Given the description of an element on the screen output the (x, y) to click on. 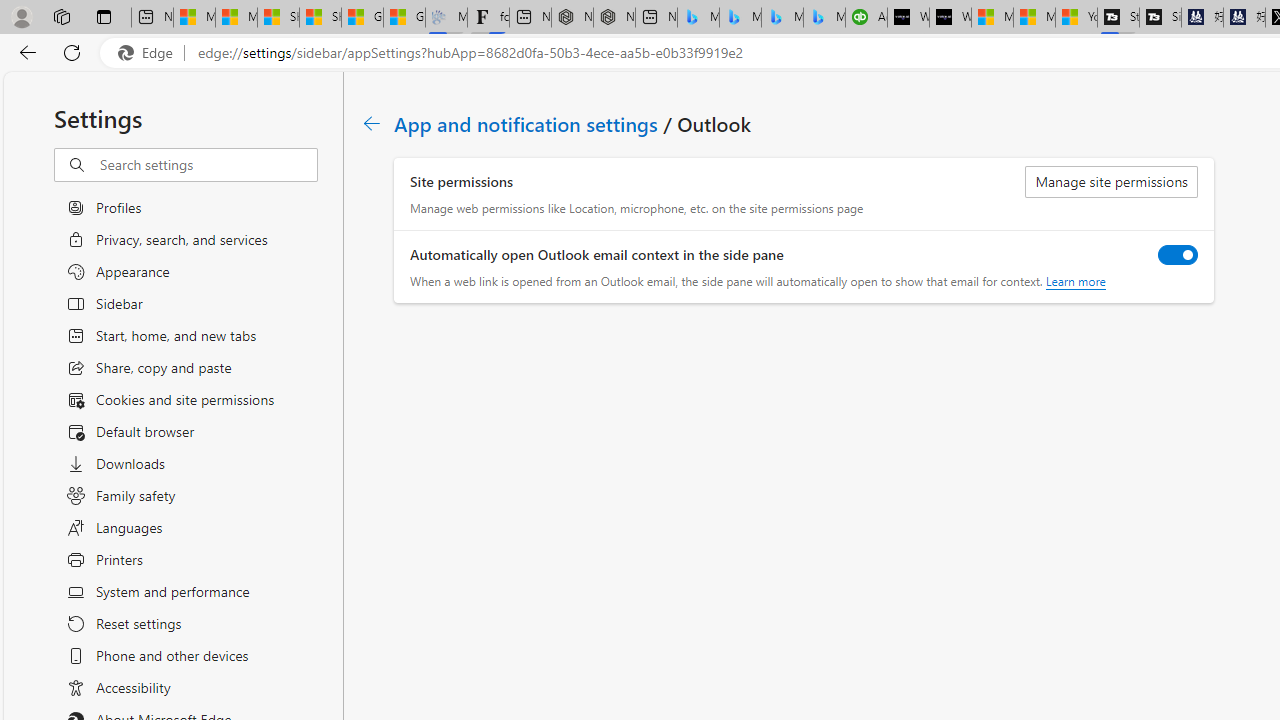
App and notification settings (527, 123)
Go back to App and notification settings page. (372, 123)
Microsoft Bing Travel - Stays in Bangkok, Bangkok, Thailand (740, 17)
Learn more (1074, 281)
Automatically open Outlook email context in the side pane (1178, 254)
Accounting Software for Accountants, CPAs and Bookkeepers (866, 17)
Class: c01188 (371, 123)
Search settings (207, 165)
Manage site permissions (1111, 182)
